Given the description of an element on the screen output the (x, y) to click on. 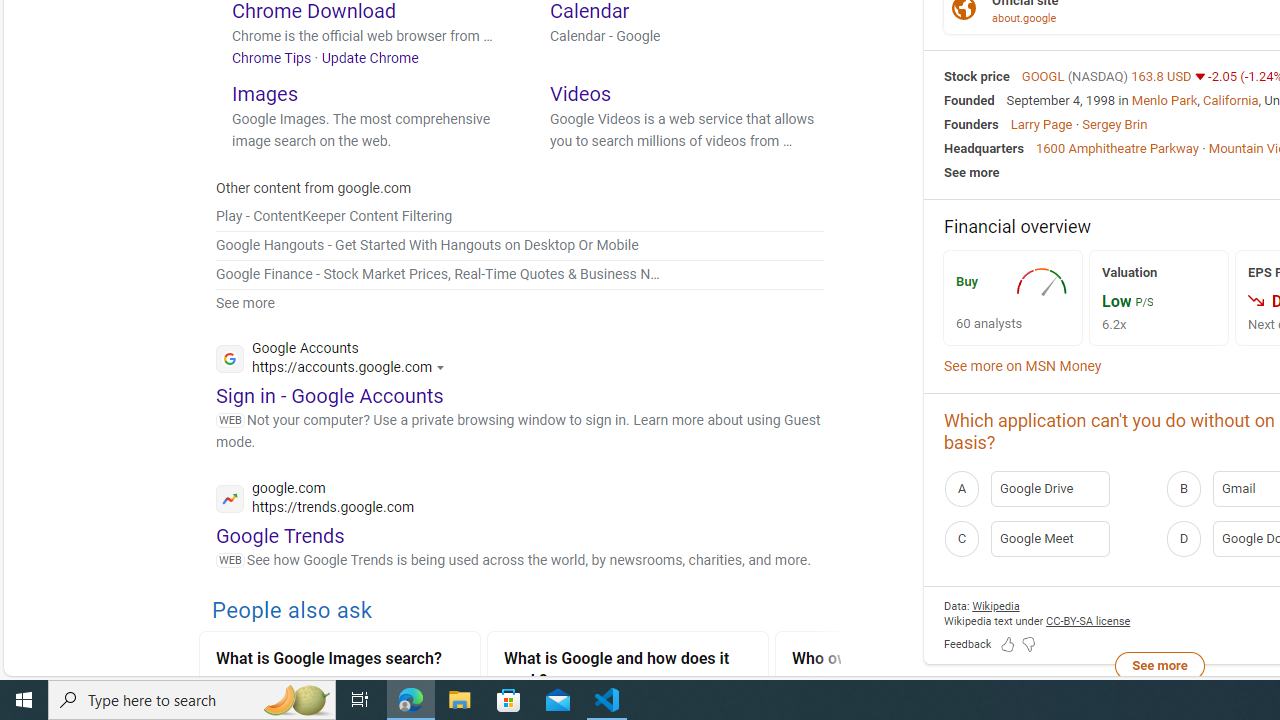
163.8 USD  (1163, 75)
Google Trends (280, 534)
Data attribution Wikipedia (995, 605)
Update Chrome (369, 57)
Images (264, 92)
Google Accounts (335, 360)
What is Google Images search? (339, 660)
google.com (315, 500)
GOOGL  (1044, 75)
Larry Page (1040, 123)
1600 Amphitheatre Parkway (1117, 147)
